Given the description of an element on the screen output the (x, y) to click on. 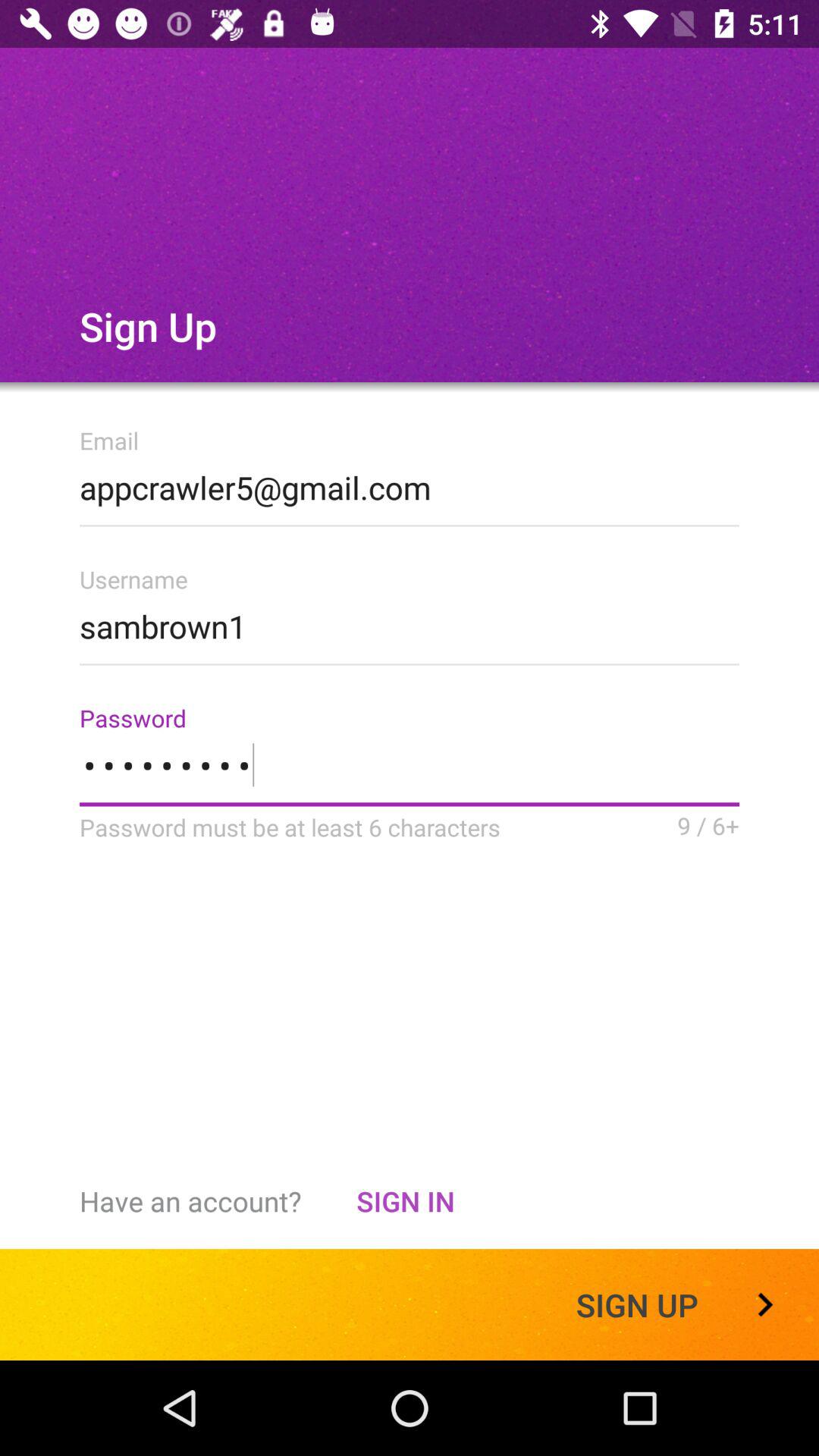
swipe to the crowd3116 (409, 774)
